Given the description of an element on the screen output the (x, y) to click on. 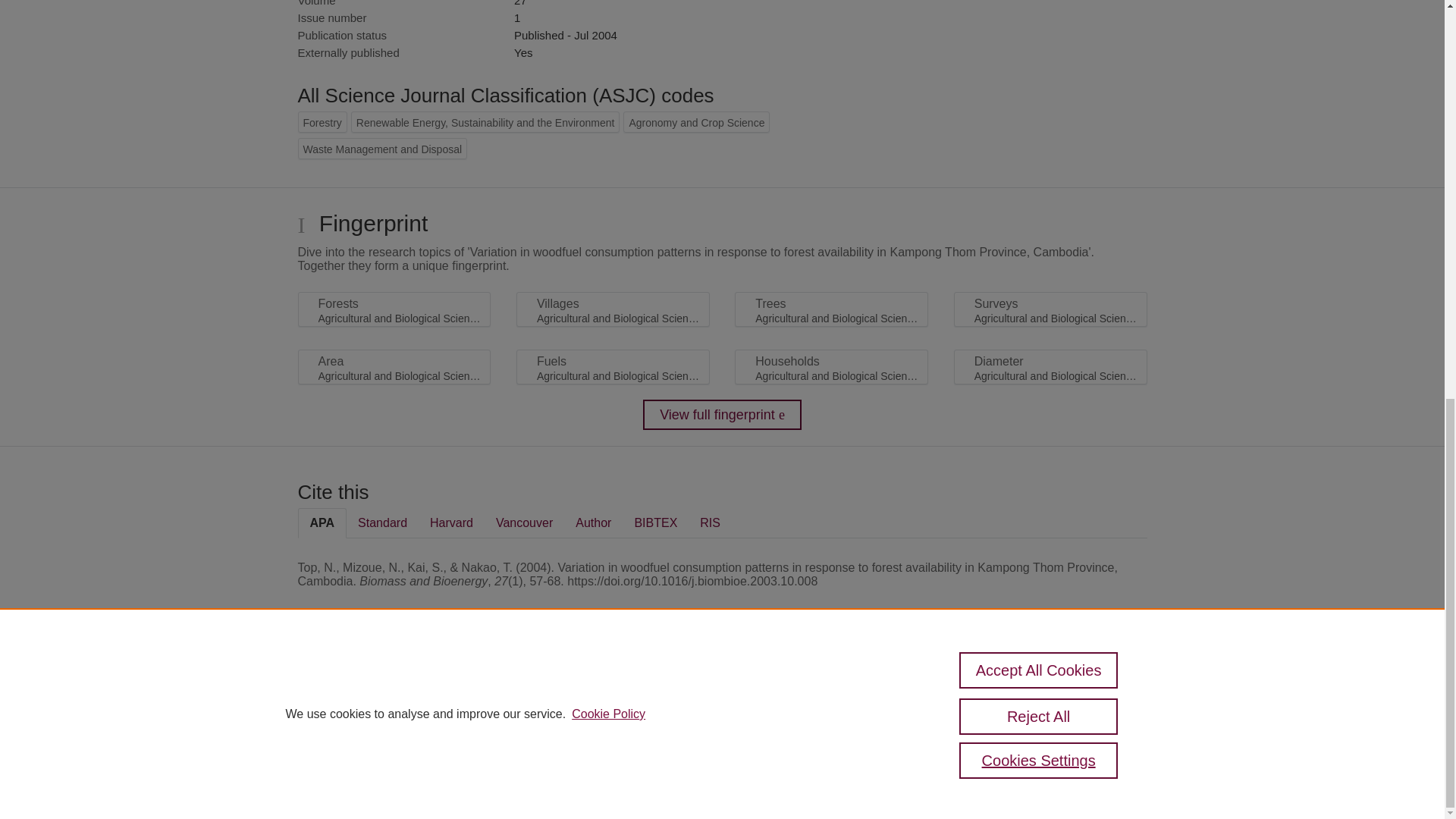
Pure (362, 686)
View full fingerprint (722, 414)
Scopus (394, 686)
